Given the description of an element on the screen output the (x, y) to click on. 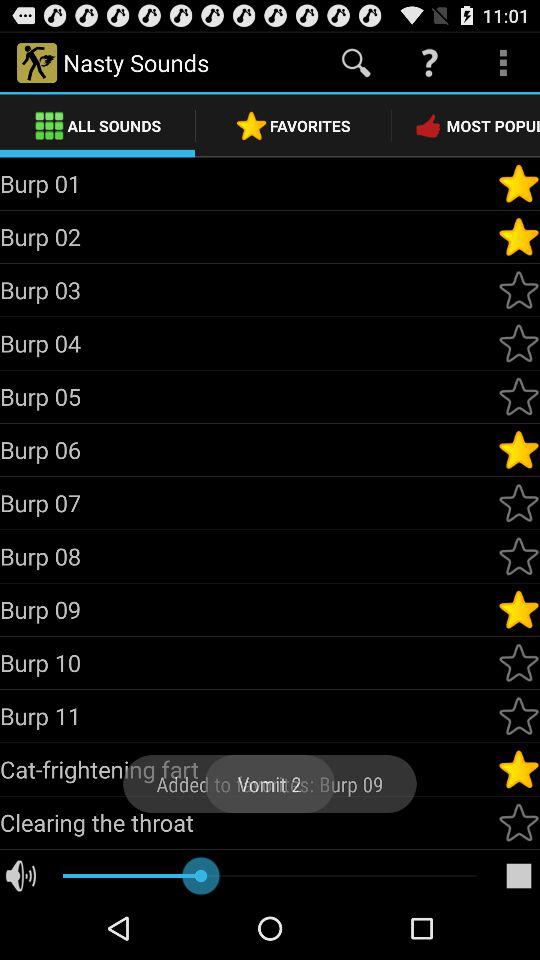
mark as a favorite (519, 822)
